Given the description of an element on the screen output the (x, y) to click on. 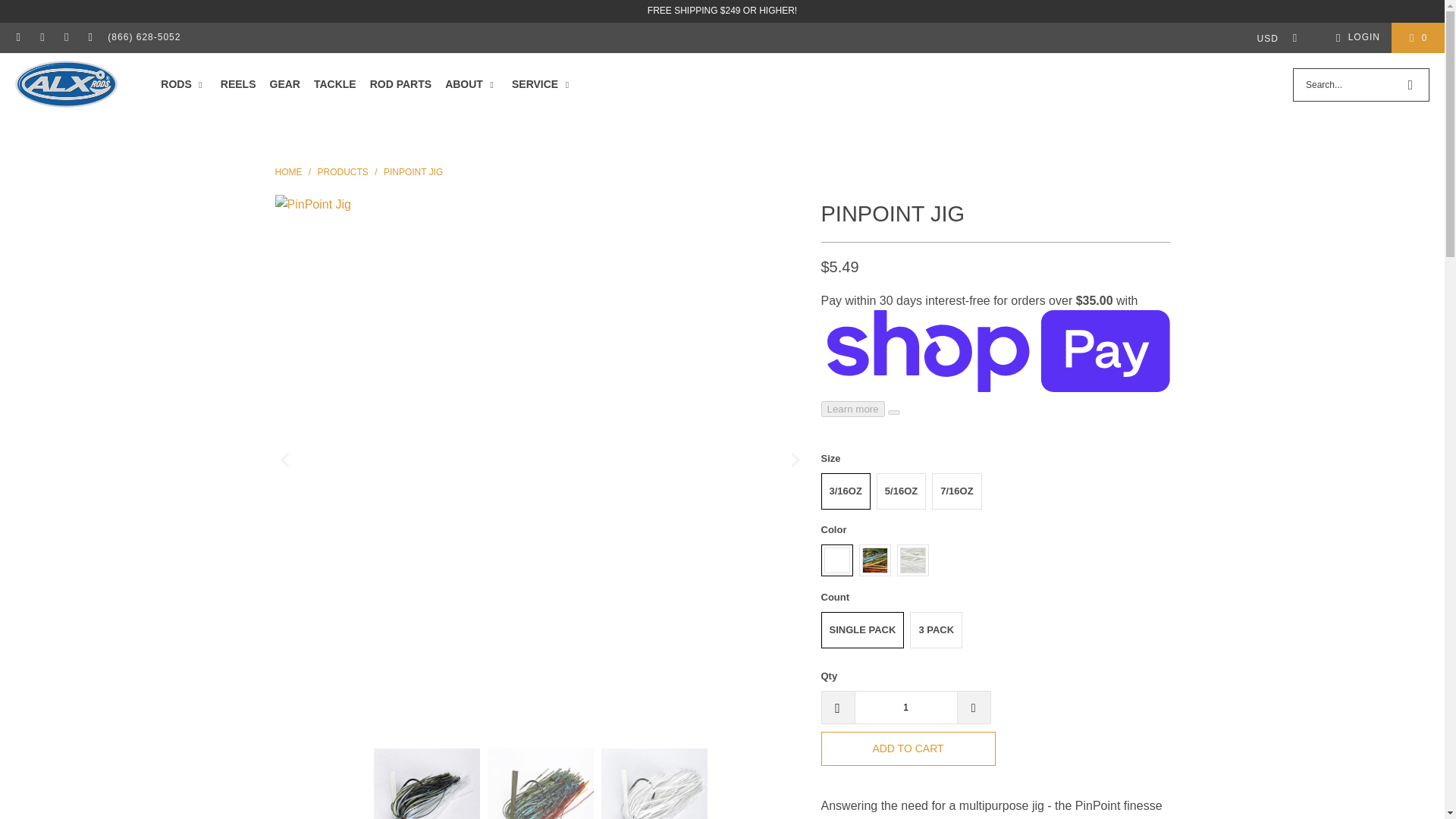
Products (342, 172)
My Account  (1355, 37)
ALX Rods (65, 84)
1 (904, 707)
ALX Rods (288, 172)
ALX Rods on Twitter (65, 37)
ALX Rods on Facebook (17, 37)
ALX Rods on Instagram (41, 37)
ALX Rods on YouTube (89, 37)
